Given the description of an element on the screen output the (x, y) to click on. 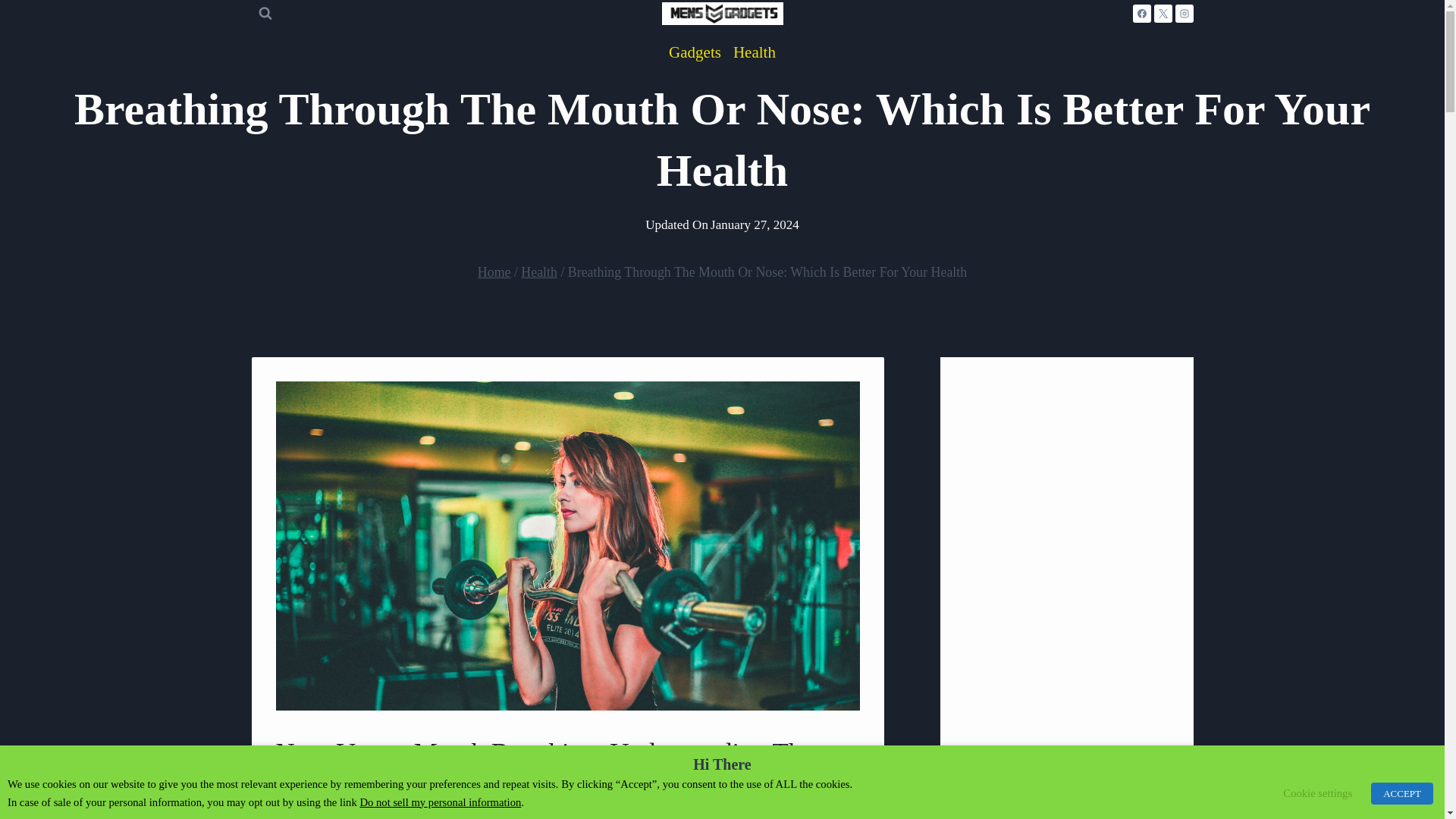
Advertisement (1066, 724)
Health (539, 272)
Home (494, 272)
Gadgets (694, 52)
Health (753, 52)
